Given the description of an element on the screen output the (x, y) to click on. 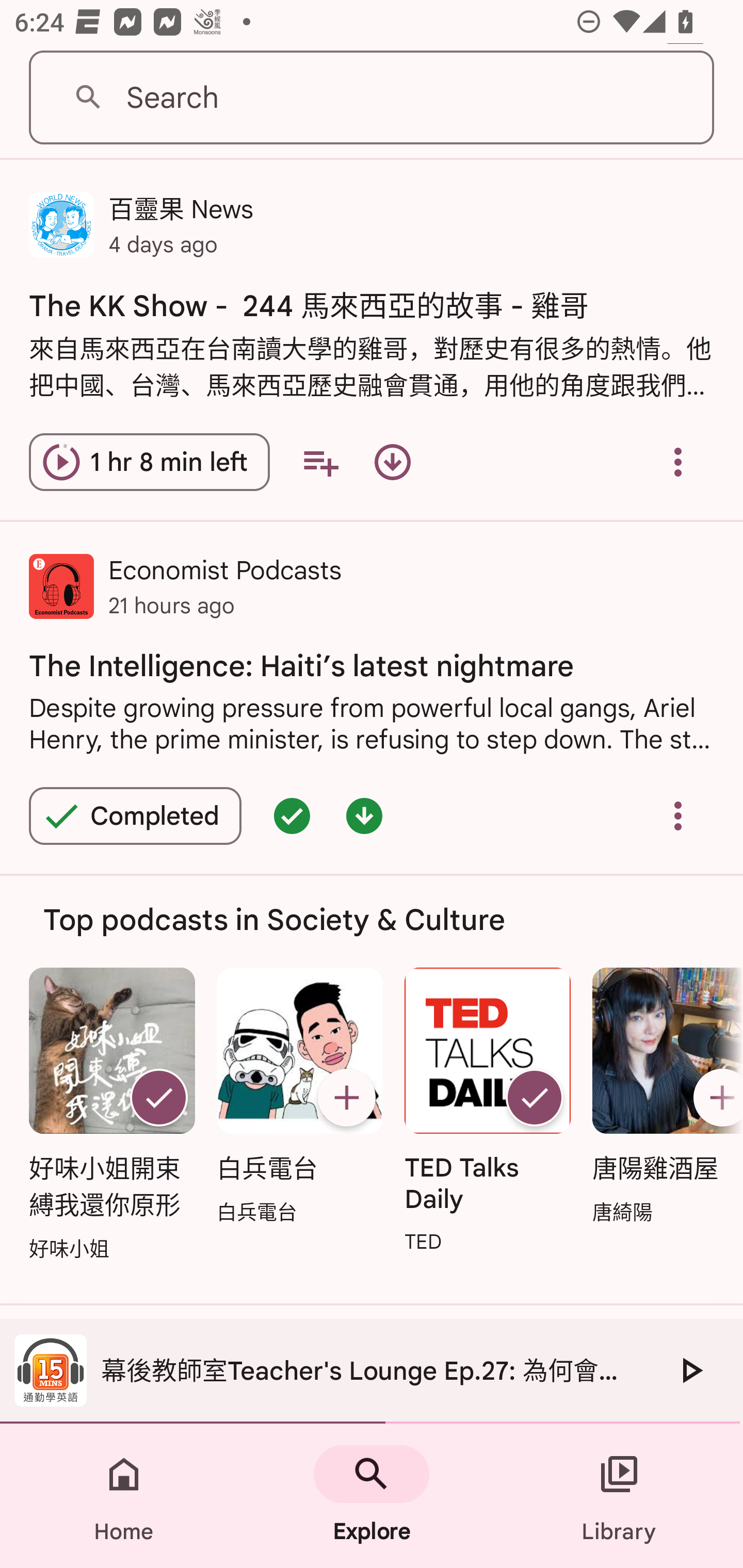
Search (371, 97)
Add to your queue (320, 461)
Download episode (392, 461)
Overflow menu (677, 461)
Episode queued - double tap for options (291, 816)
Episode downloaded - double tap for options (364, 816)
Overflow menu (677, 816)
好味小姐開束縛我還你原形 Unsubscribe 好味小姐開束縛我還你原形 好味小姐 (111, 1115)
白兵電台 Subscribe 白兵電台 白兵電台 (299, 1096)
TED Talks Daily Unsubscribe TED Talks Daily TED (487, 1111)
唐陽雞酒屋 Subscribe 唐陽雞酒屋 唐綺陽 (662, 1096)
Unsubscribe (158, 1097)
Subscribe (346, 1097)
Unsubscribe (534, 1097)
Subscribe (714, 1097)
Play (690, 1370)
Home (123, 1495)
Library (619, 1495)
